Given the description of an element on the screen output the (x, y) to click on. 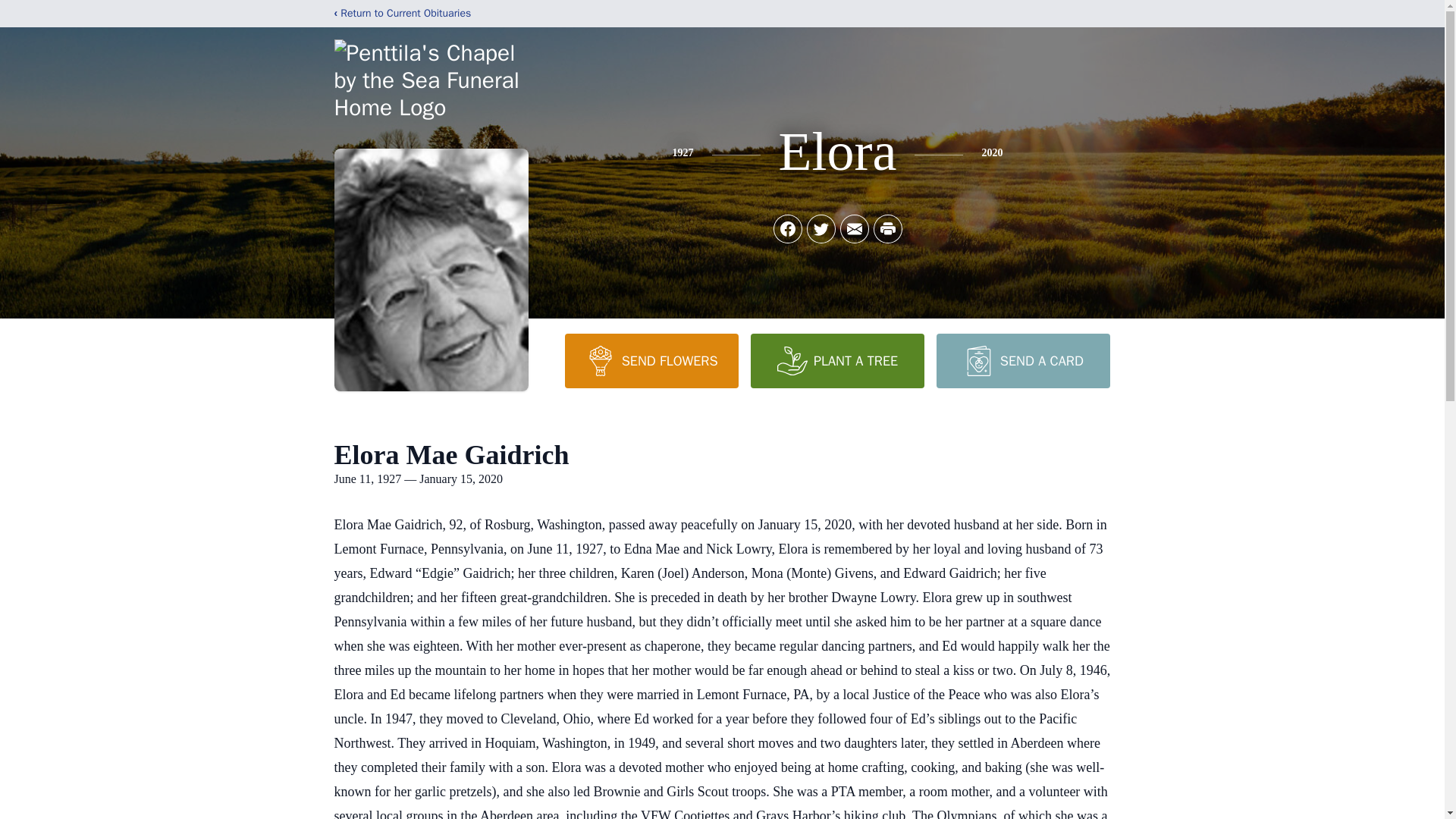
PLANT A TREE (837, 360)
SEND FLOWERS (651, 360)
SEND A CARD (1022, 360)
